Given the description of an element on the screen output the (x, y) to click on. 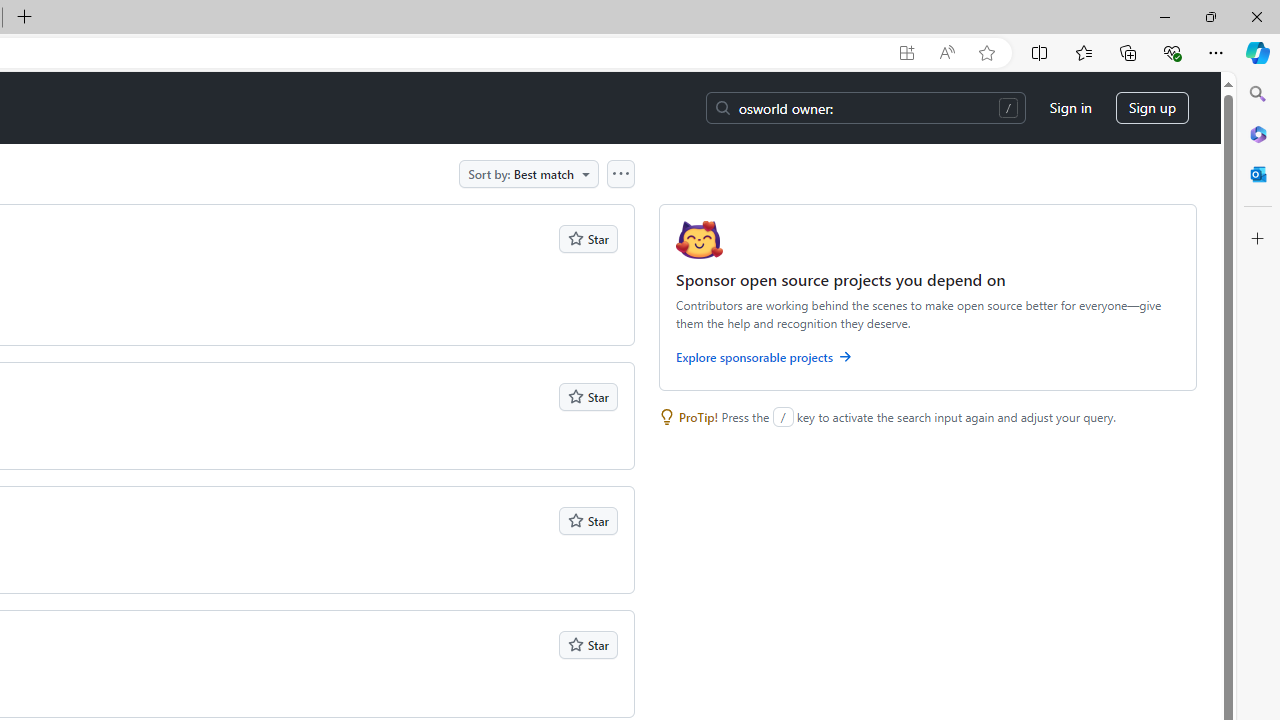
Star (588, 644)
App available. Install GitHub (906, 53)
Explore sponsorable projects (927, 360)
Sort by: Best match (529, 173)
Sign up (1152, 107)
